Given the description of an element on the screen output the (x, y) to click on. 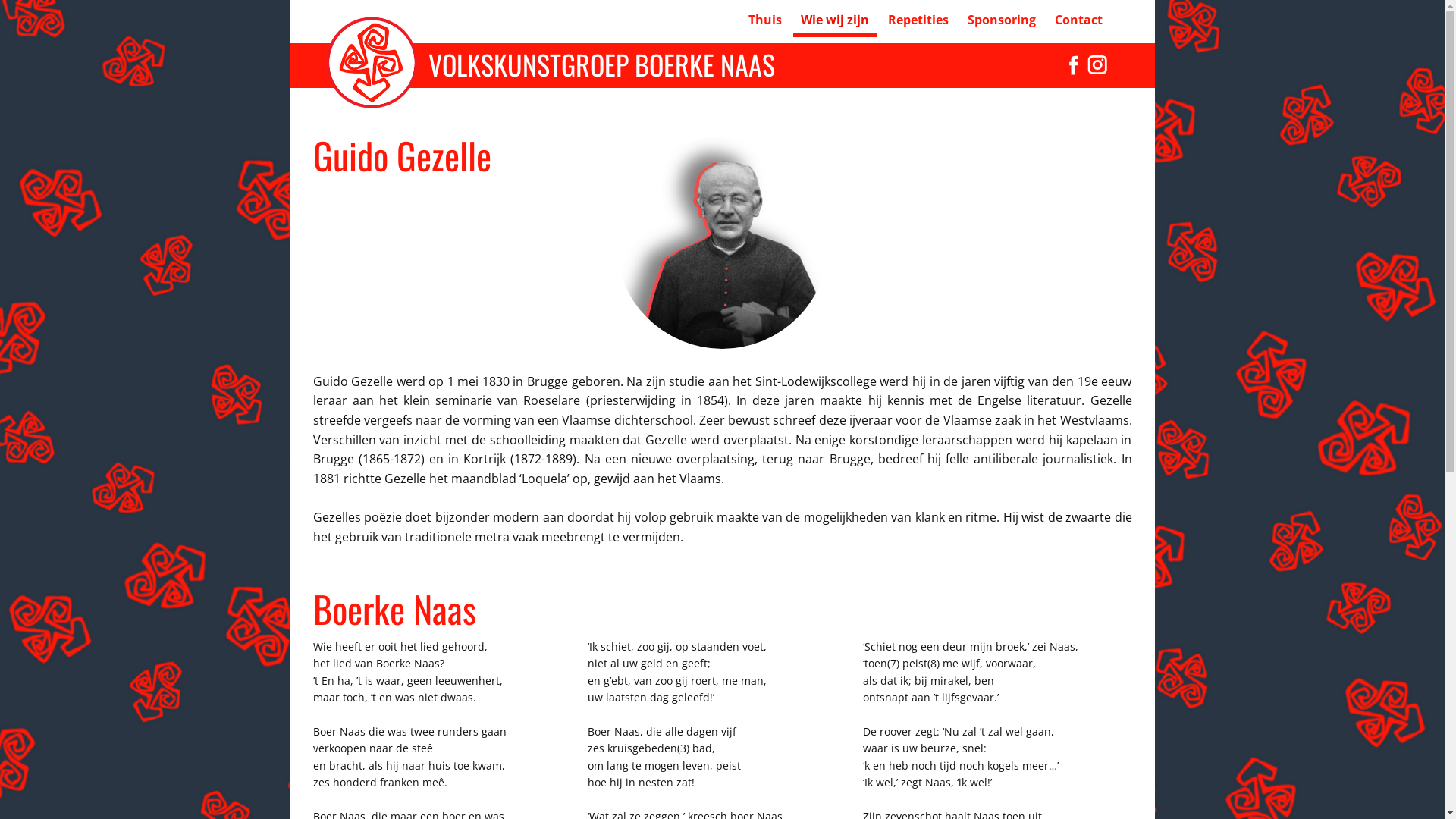
Repetities Element type: text (917, 21)
Boerke Naas Element type: hover (372, 61)
Contact Element type: text (1077, 21)
Sponsoring Element type: text (1001, 21)
instagram Element type: hover (1097, 64)
Thuis Element type: text (764, 21)
facebook Element type: hover (1073, 64)
Wie wij zijn Element type: text (834, 21)
